Given the description of an element on the screen output the (x, y) to click on. 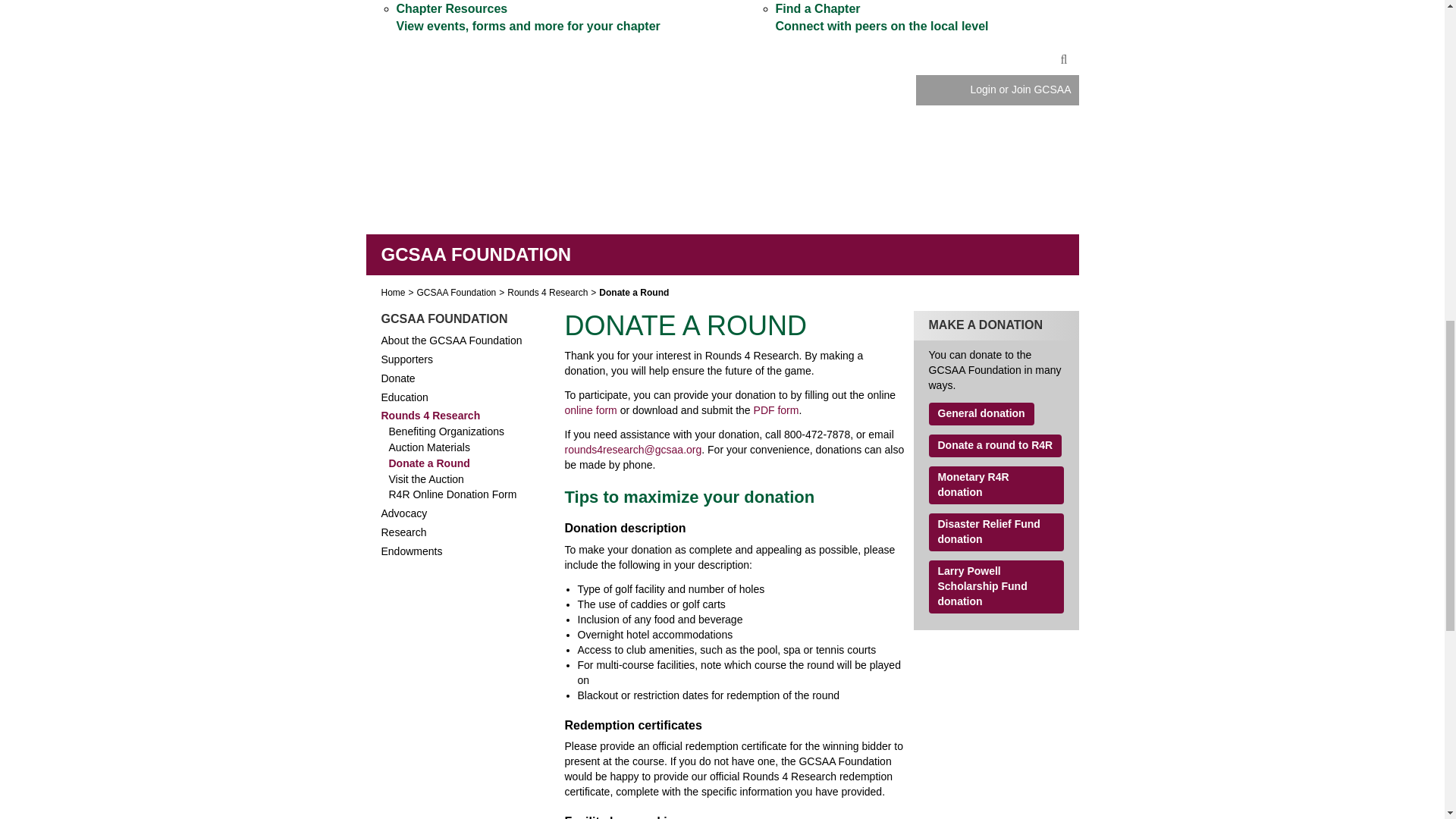
Search (1063, 61)
PDF form (776, 410)
